Given the description of an element on the screen output the (x, y) to click on. 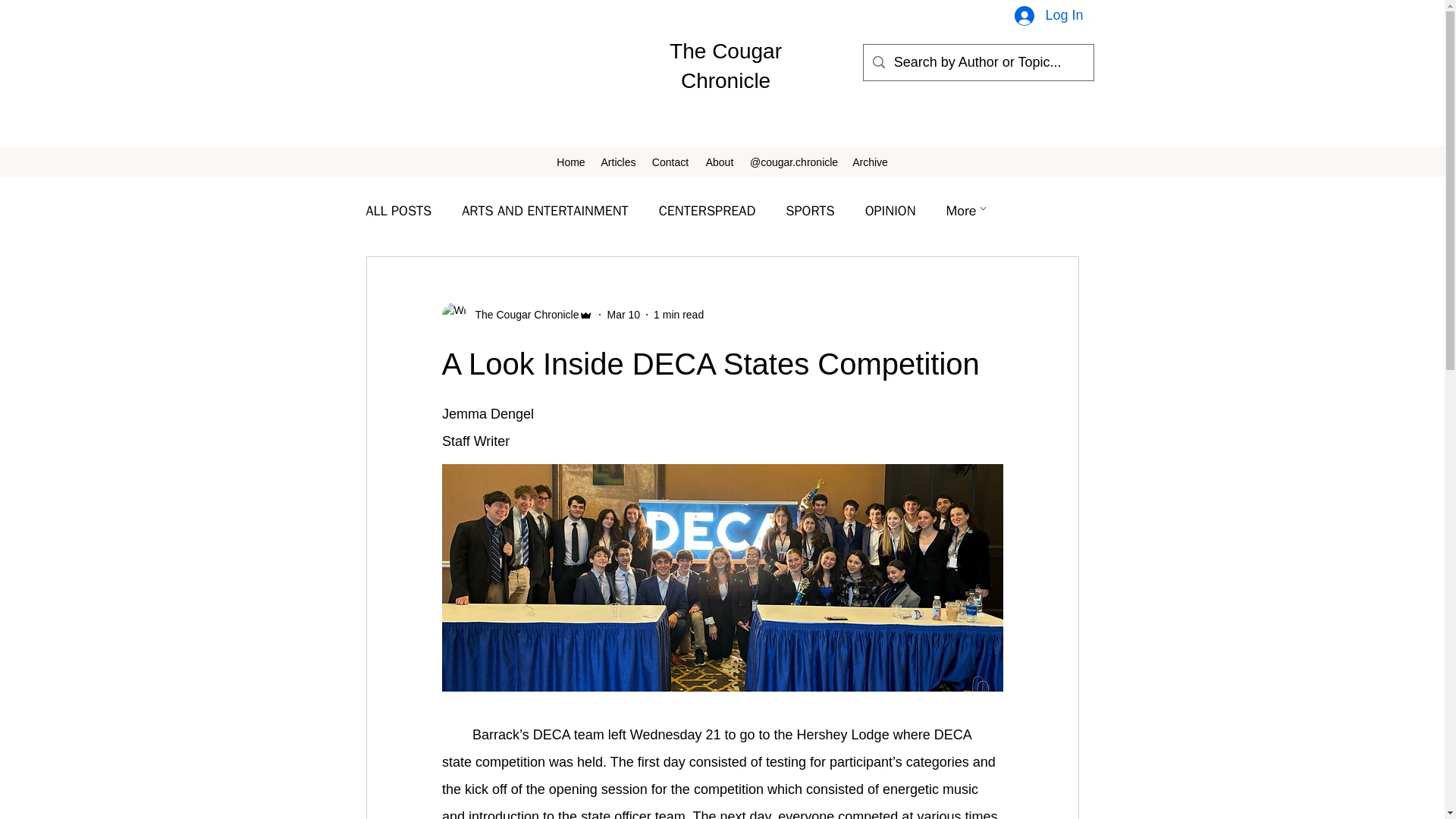
1 min read (678, 313)
Archive (869, 161)
CENTERSPREAD (707, 210)
The Cougar Chronicle (725, 65)
Articles (617, 161)
Log In (1048, 16)
OPINION (889, 210)
ALL POSTS (397, 210)
Contact (670, 161)
Mar 10 (623, 313)
The Cougar Chronicle (516, 314)
ARTS AND ENTERTAINMENT (544, 210)
About (719, 161)
The Cougar Chronicle (521, 314)
SPORTS (810, 210)
